Given the description of an element on the screen output the (x, y) to click on. 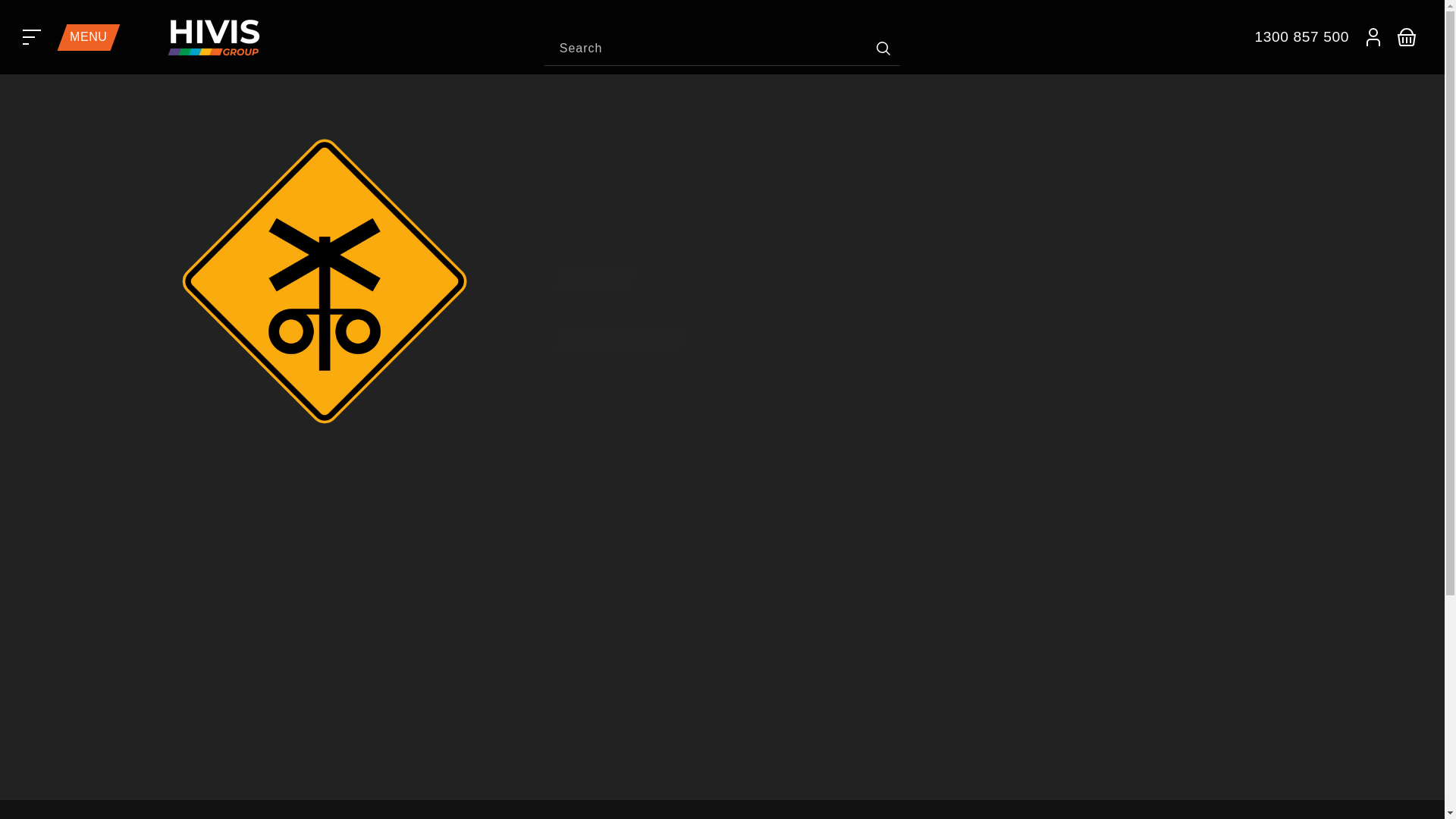
SKIP TO CONTENT (42, 16)
Open media 1 in modal (323, 281)
1 (608, 403)
Search (722, 50)
